Given the description of an element on the screen output the (x, y) to click on. 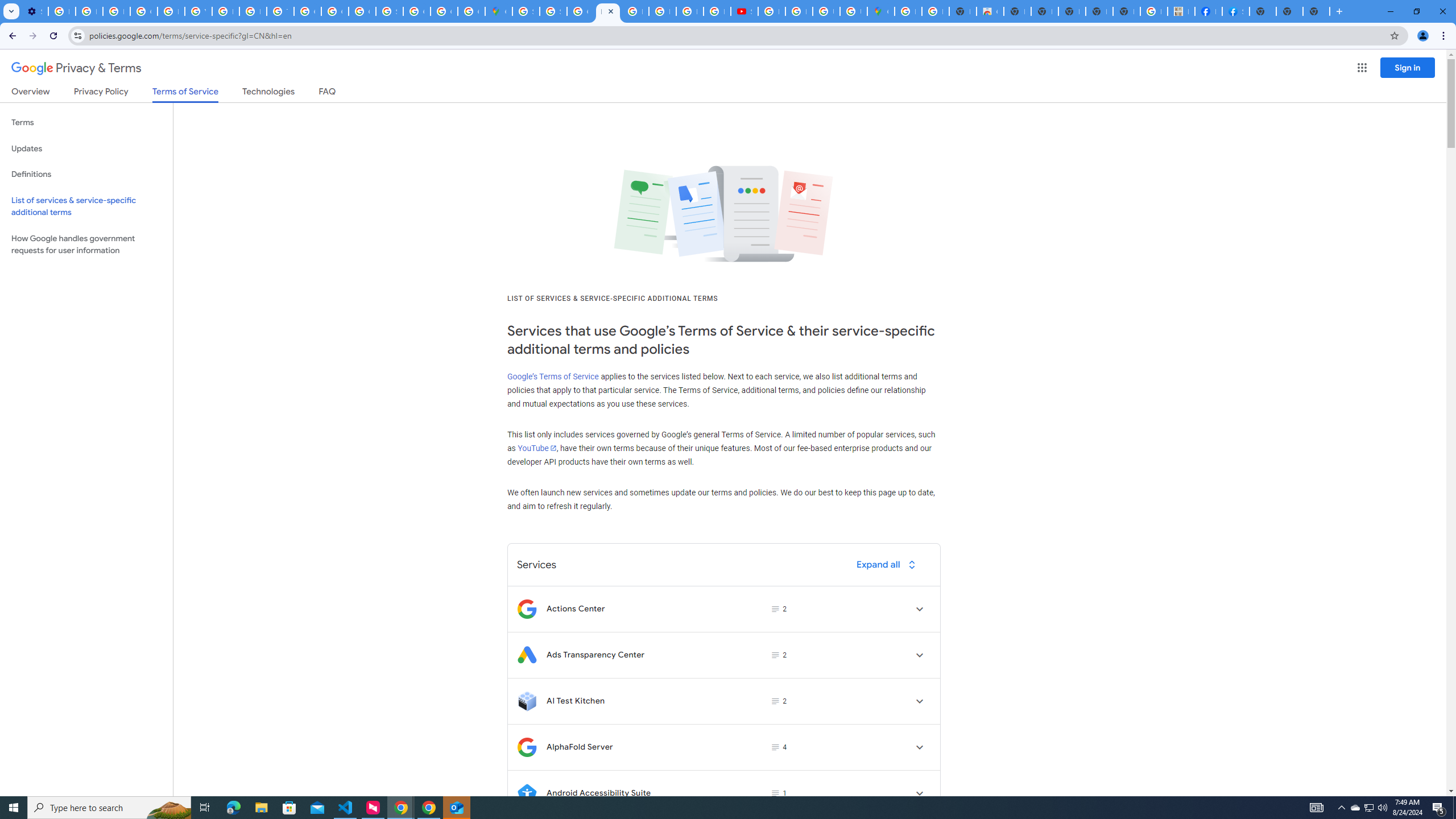
Sign in - Google Accounts (553, 11)
New Tab (1316, 11)
Learn how to find your photos - Google Photos Help (88, 11)
MILEY CYRUS. (1180, 11)
